Given the description of an element on the screen output the (x, y) to click on. 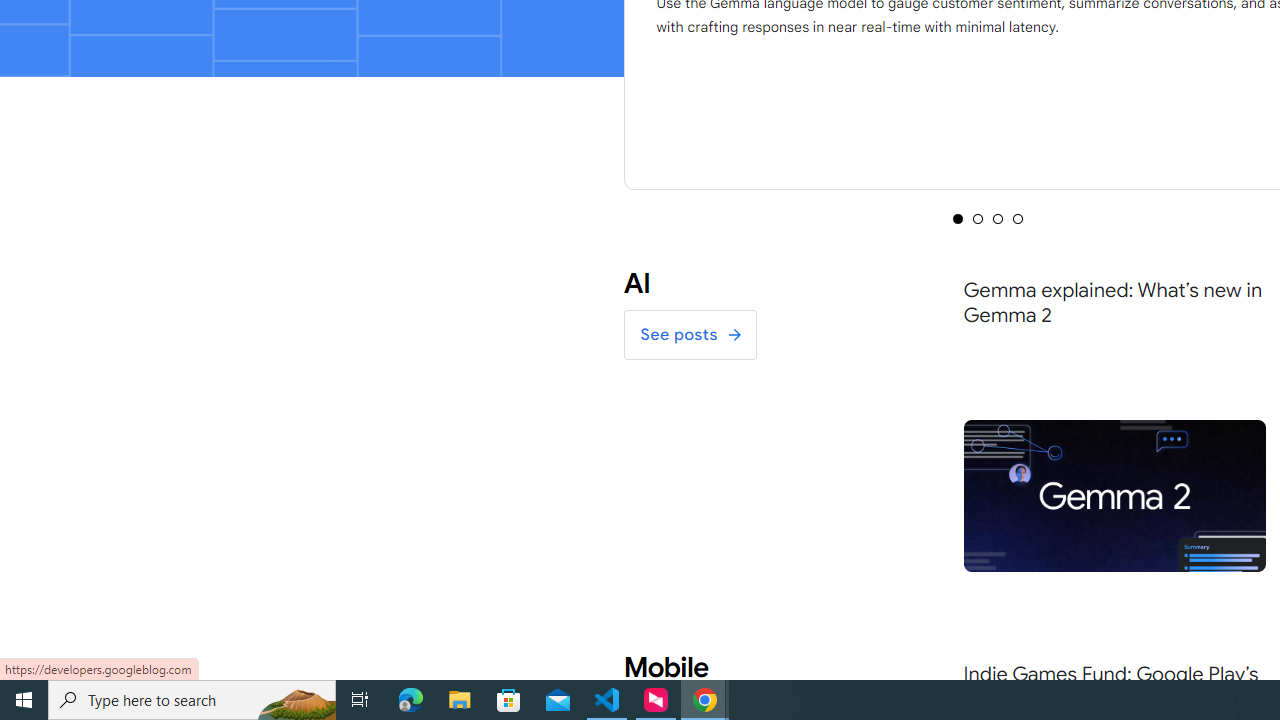
Selected tab 1 of 4 (958, 218)
Selected tab 2 of 4 (978, 218)
Gemma-2-Feature (1114, 495)
Selected tab 3 of 4 (998, 218)
Selected tab 4 of 4 (1018, 218)
See posts (689, 335)
